Given the description of an element on the screen output the (x, y) to click on. 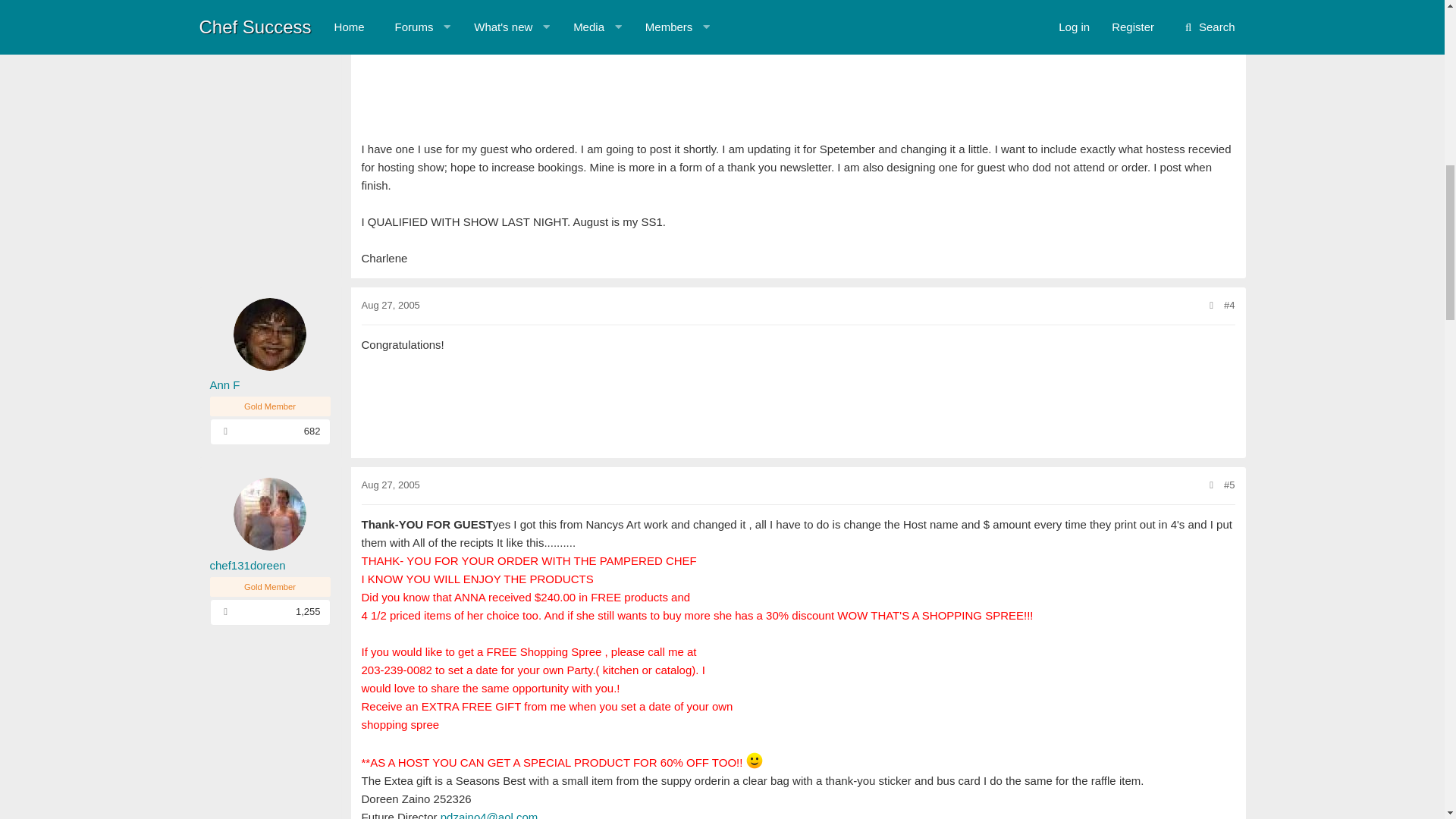
Messages (225, 611)
Aug 27, 2005 at 7:37 AM (390, 305)
Advertisement (797, 67)
Aug 27, 2005 at 8:41 AM (390, 484)
Messages (225, 430)
